Given the description of an element on the screen output the (x, y) to click on. 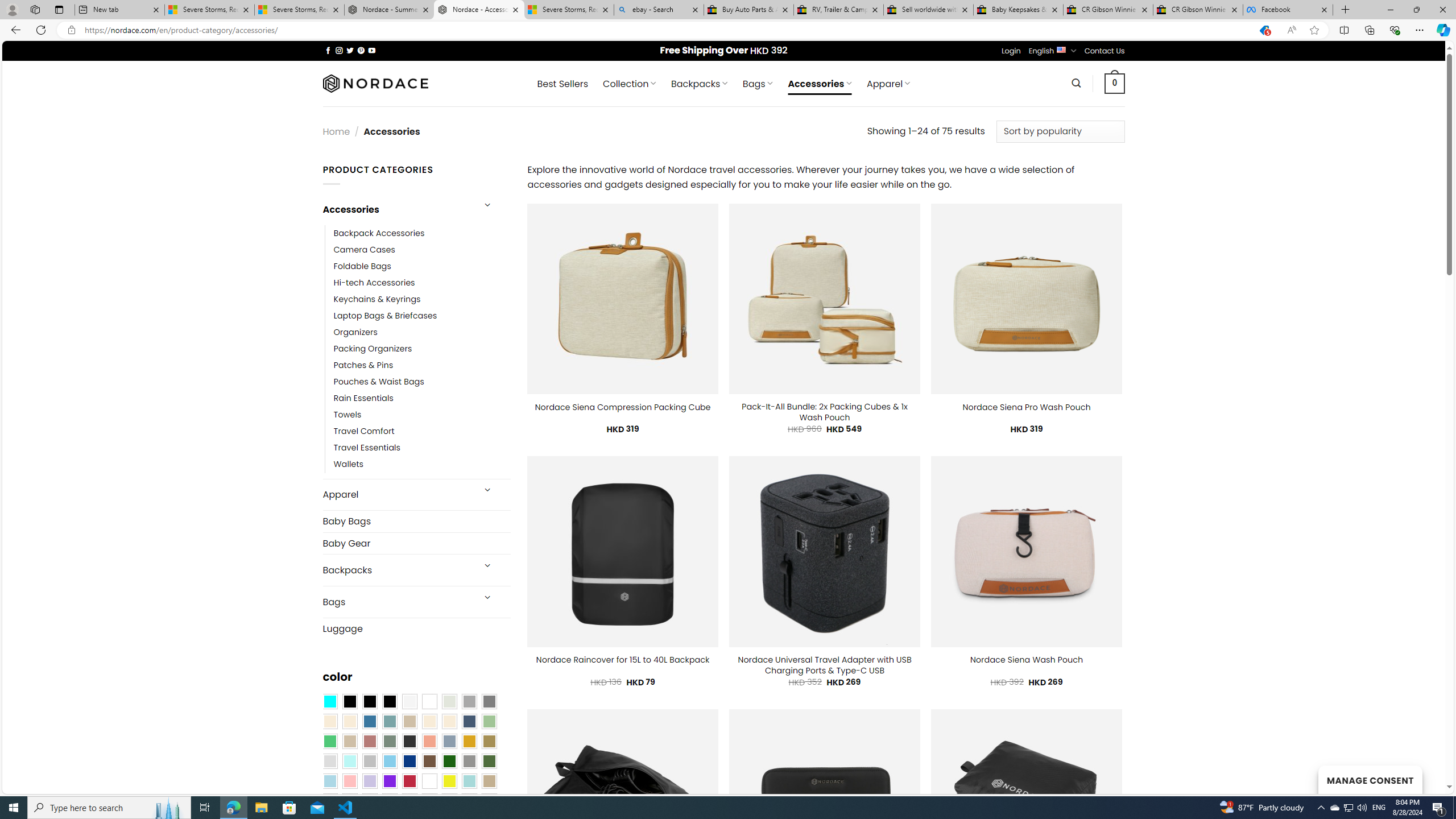
Shop order (1060, 131)
Nordace Siena Wash Pouch (1026, 659)
Sell worldwide with eBay (928, 9)
Pink (349, 780)
Contact Us (1104, 50)
Add this page to favorites (Ctrl+D) (1314, 29)
Follow on Instagram (338, 49)
Keychains & Keyrings (376, 298)
  0   (1115, 83)
Kelp (488, 741)
Address and search bar (664, 29)
Workspaces (34, 9)
English (1061, 49)
